Given the description of an element on the screen output the (x, y) to click on. 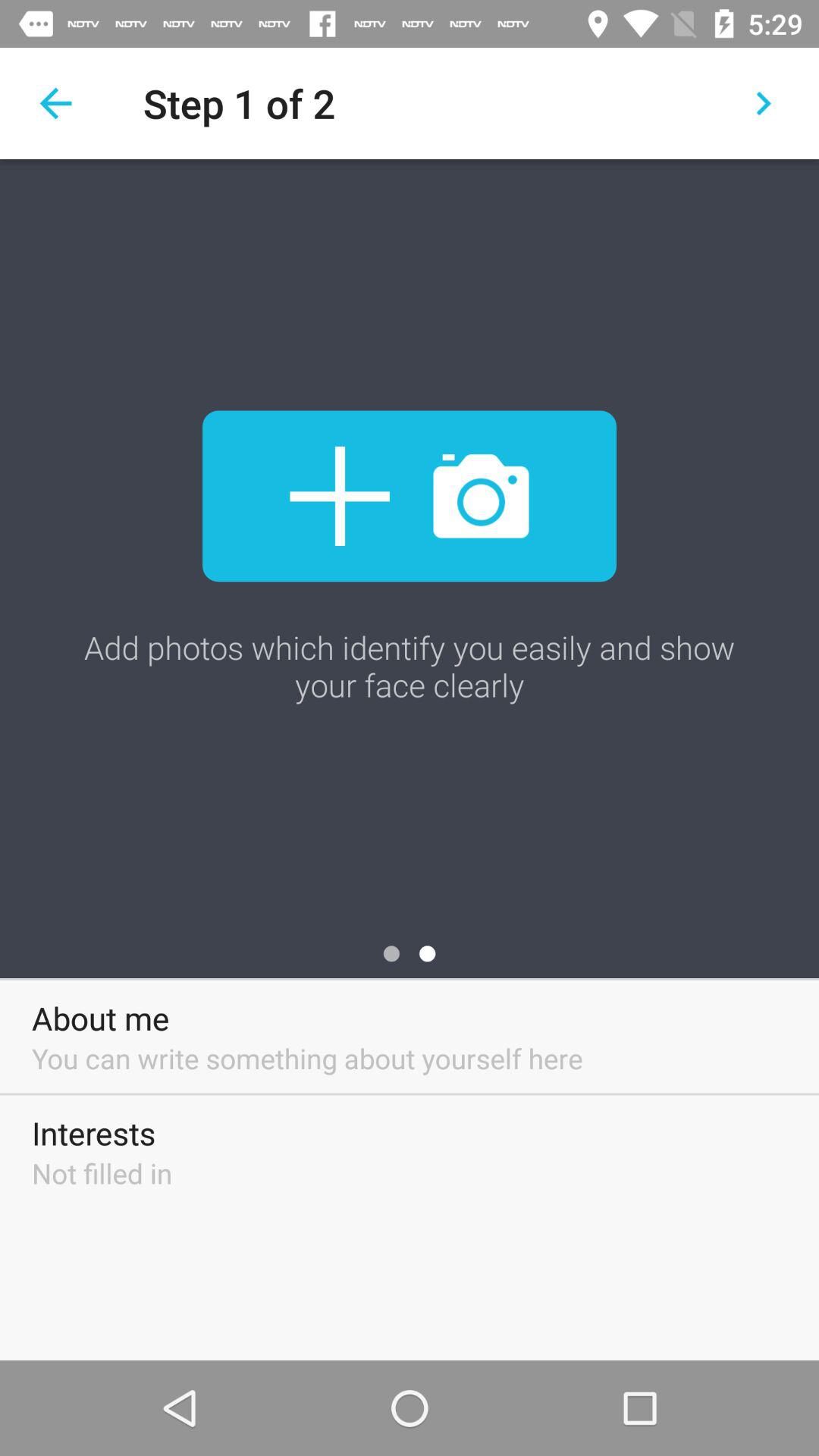
backward (55, 103)
